Given the description of an element on the screen output the (x, y) to click on. 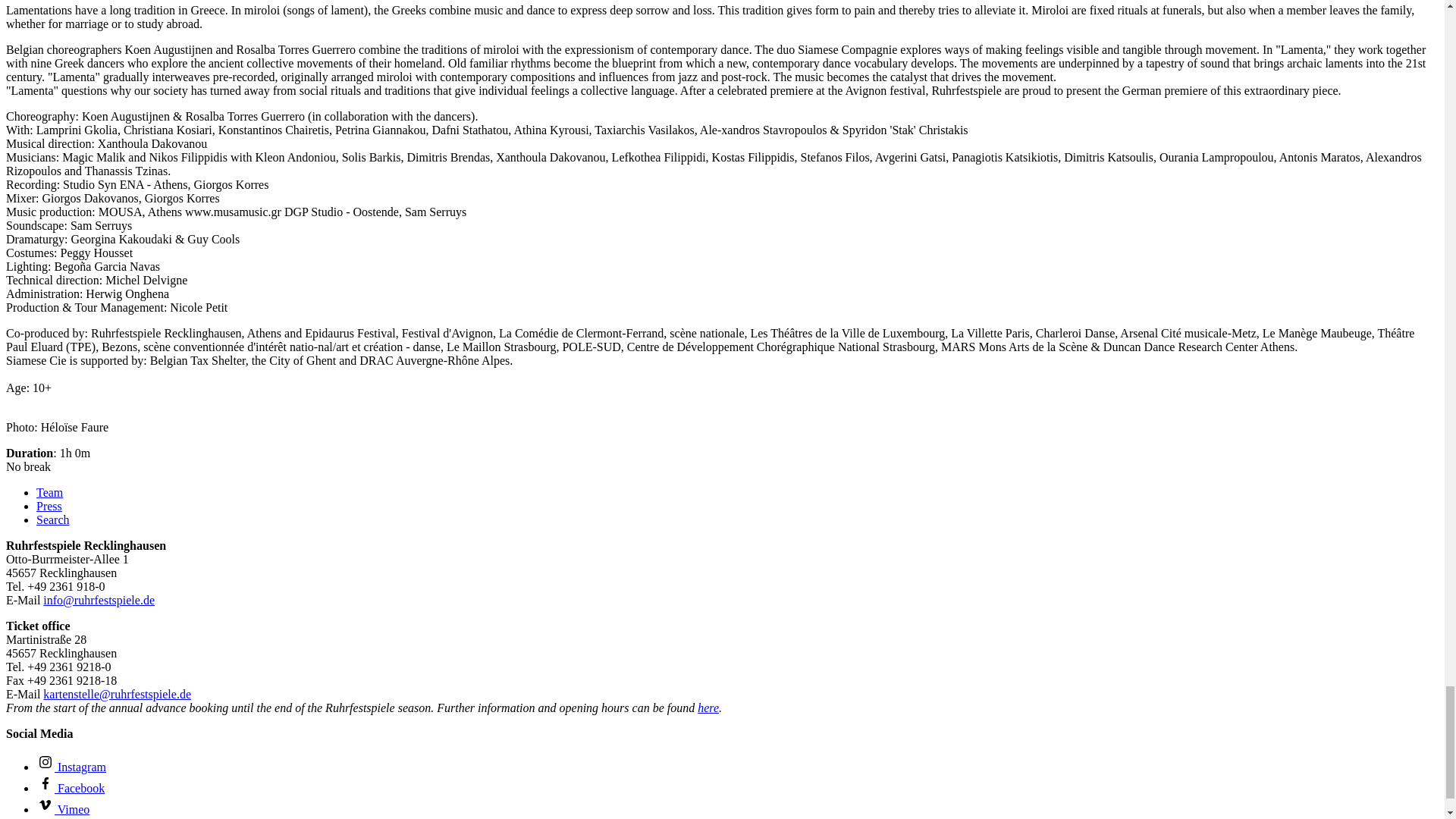
Team (49, 492)
ic-social-instagram (45, 761)
ic-social-facebook (45, 782)
ic-social-instagram Instagram (71, 766)
Search (52, 519)
ic-social-vimeo (45, 804)
Press (49, 505)
here (708, 707)
ic-social-vimeo Vimeo (62, 809)
ic-social-facebook Facebook (70, 788)
